Given the description of an element on the screen output the (x, y) to click on. 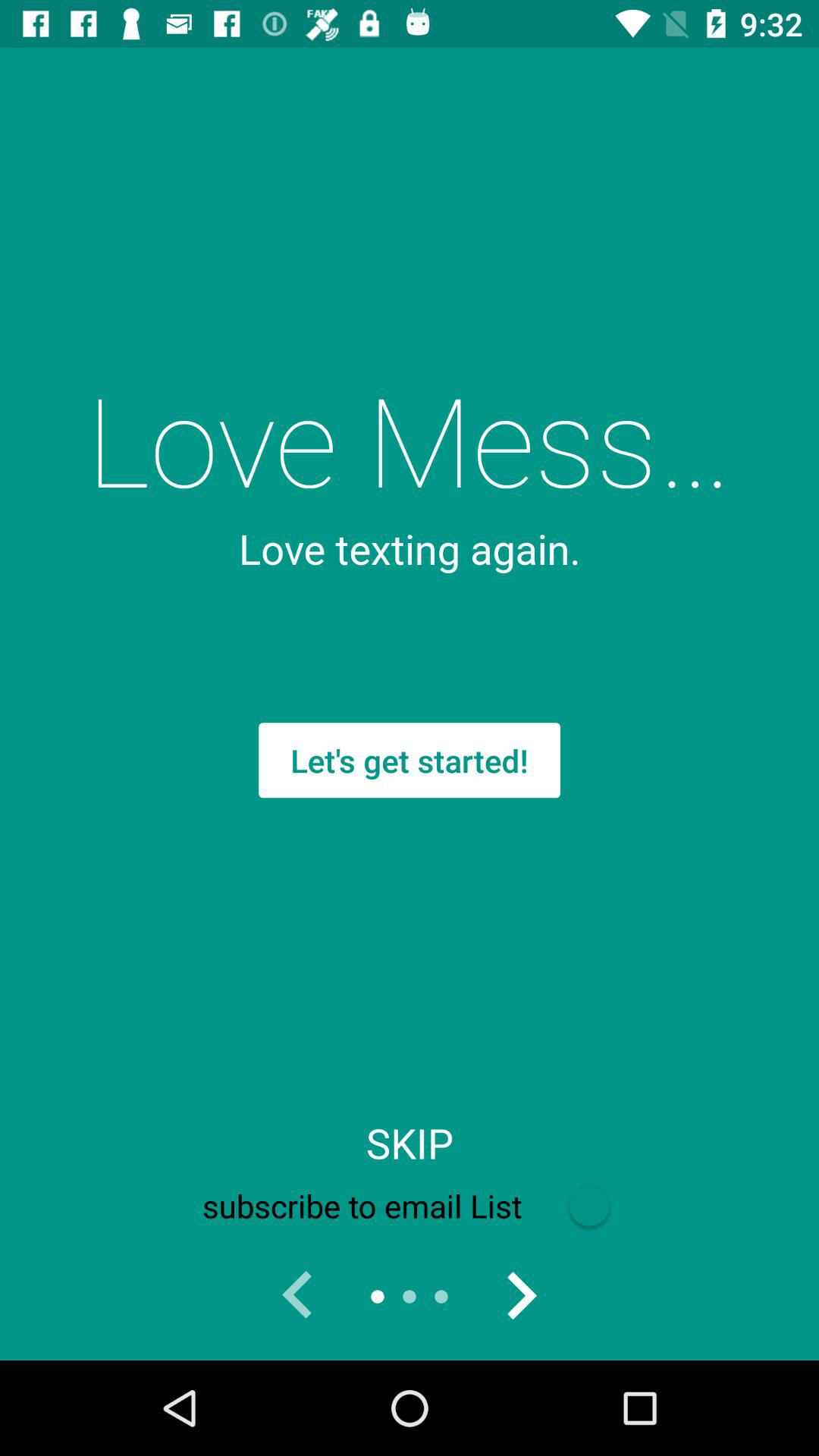
swipe until let s get item (409, 759)
